Given the description of an element on the screen output the (x, y) to click on. 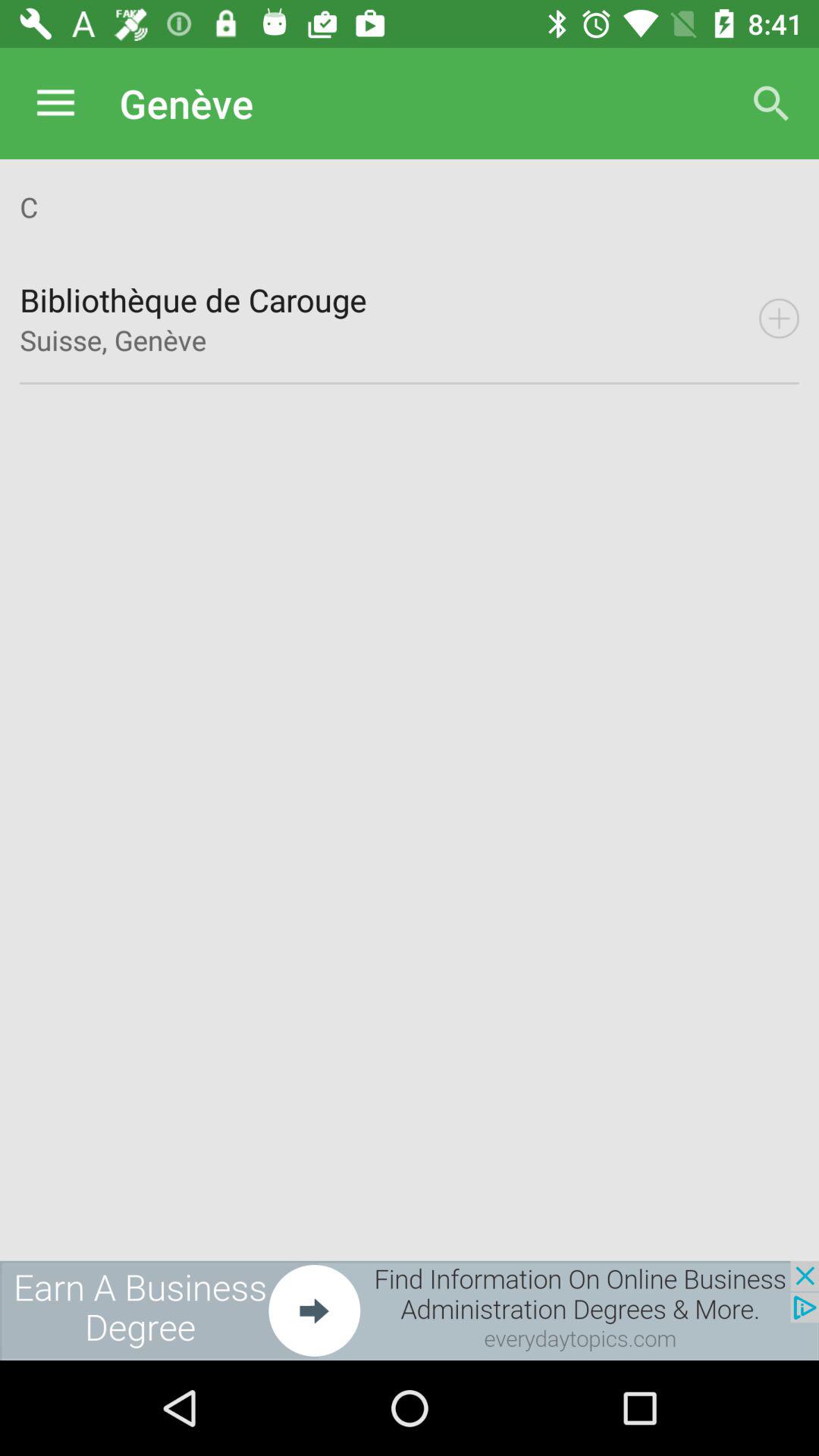
click advertisement (409, 1310)
